Given the description of an element on the screen output the (x, y) to click on. 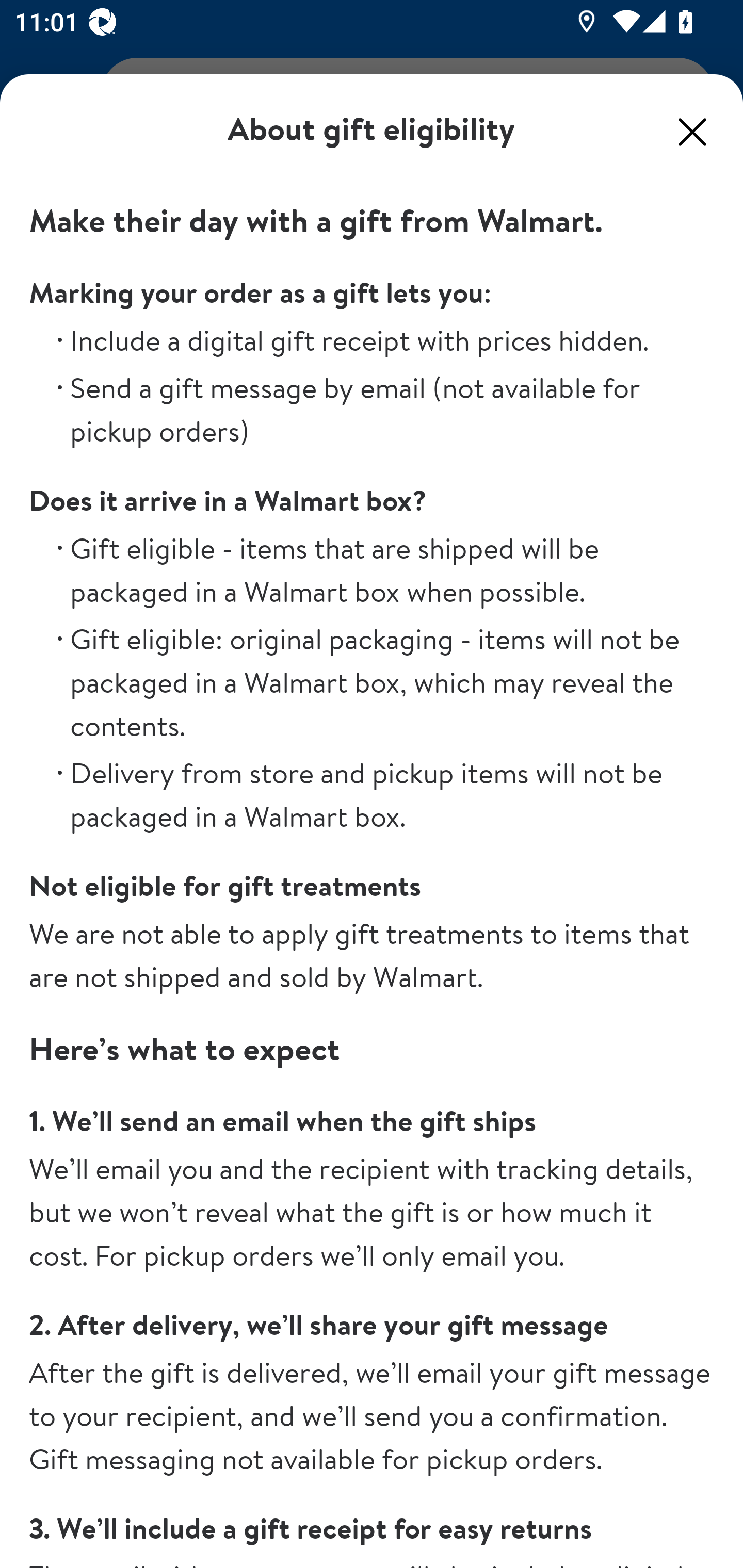
Close (692, 131)
